Given the description of an element on the screen output the (x, y) to click on. 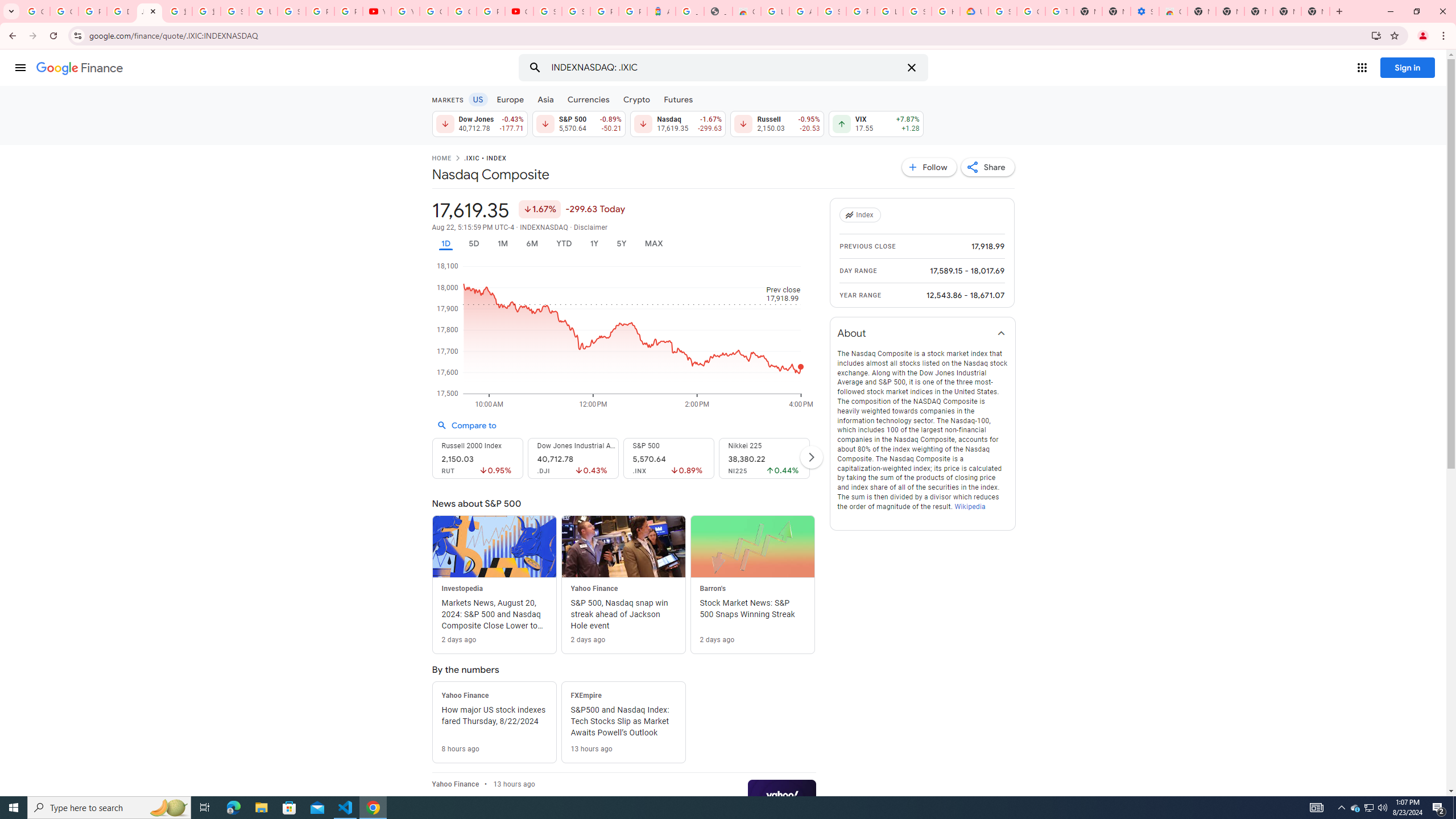
Create your Google Account (461, 11)
1D (445, 243)
Google apps (1362, 67)
Google Account Help (433, 11)
View site information (77, 35)
Share (987, 167)
Sign in - Google Accounts (831, 11)
Nasdaq 17,619.35 Down by 1.67% -299.63 (678, 123)
Address and search bar (726, 35)
Content Creator Programs & Opportunities - YouTube Creators (518, 11)
Asia (545, 99)
